Given the description of an element on the screen output the (x, y) to click on. 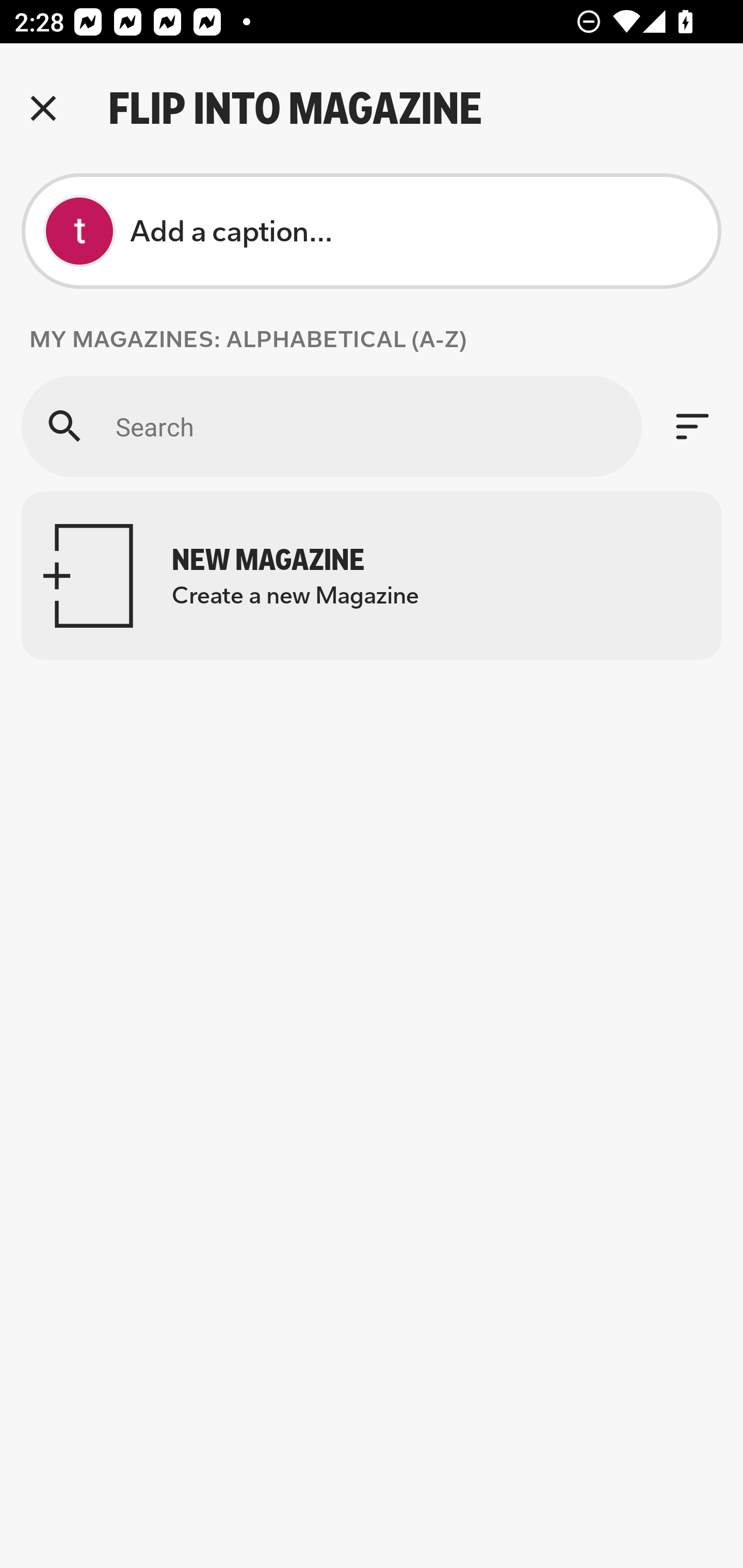
test appium Add a caption… (371, 231)
Search (331, 426)
NEW MAGAZINE Create a new Magazine (371, 575)
